Given the description of an element on the screen output the (x, y) to click on. 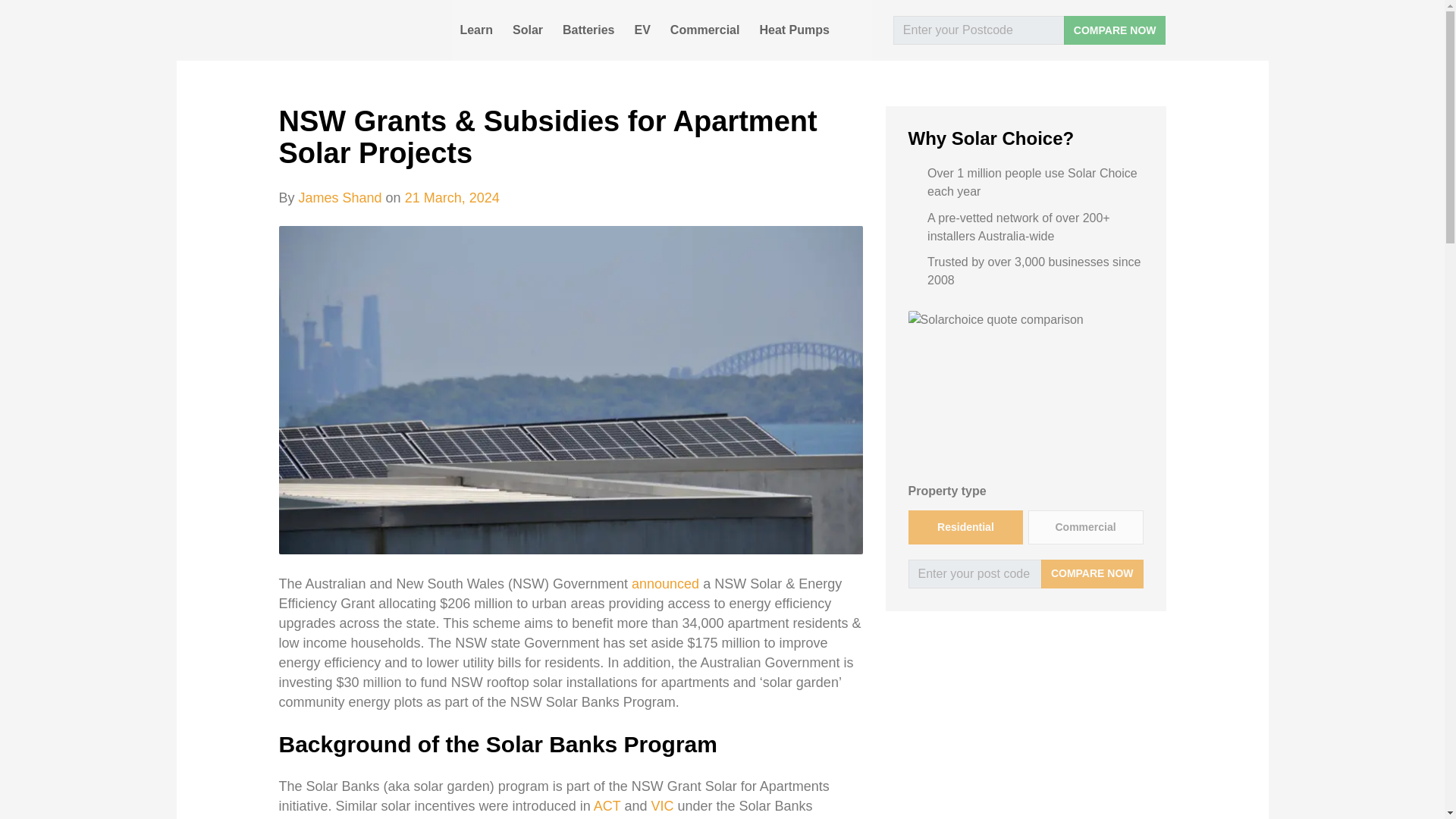
Solar Choice (349, 30)
Solar Choice (349, 30)
